Given the description of an element on the screen output the (x, y) to click on. 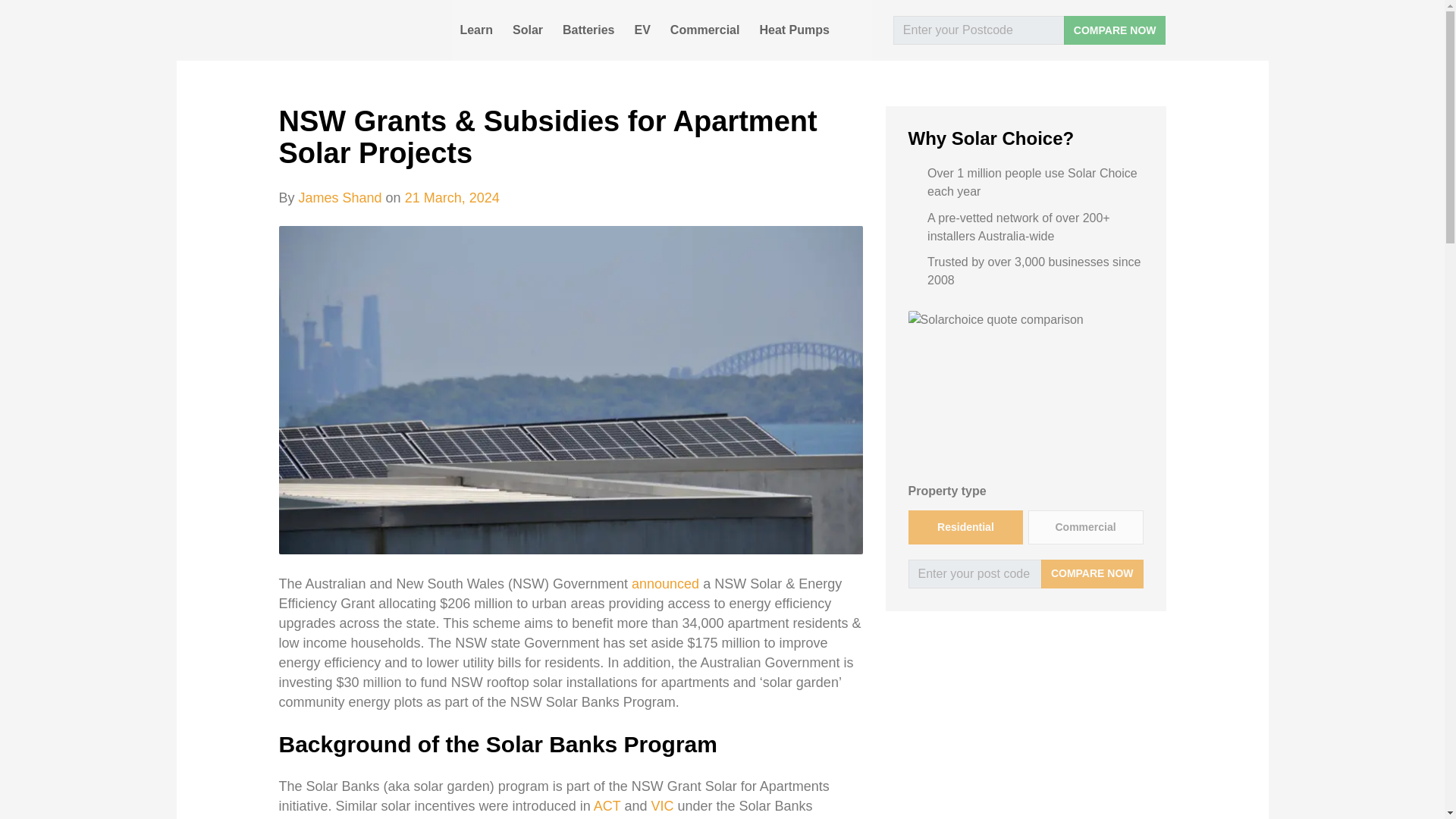
Solar Choice (349, 30)
Solar Choice (349, 30)
